Given the description of an element on the screen output the (x, y) to click on. 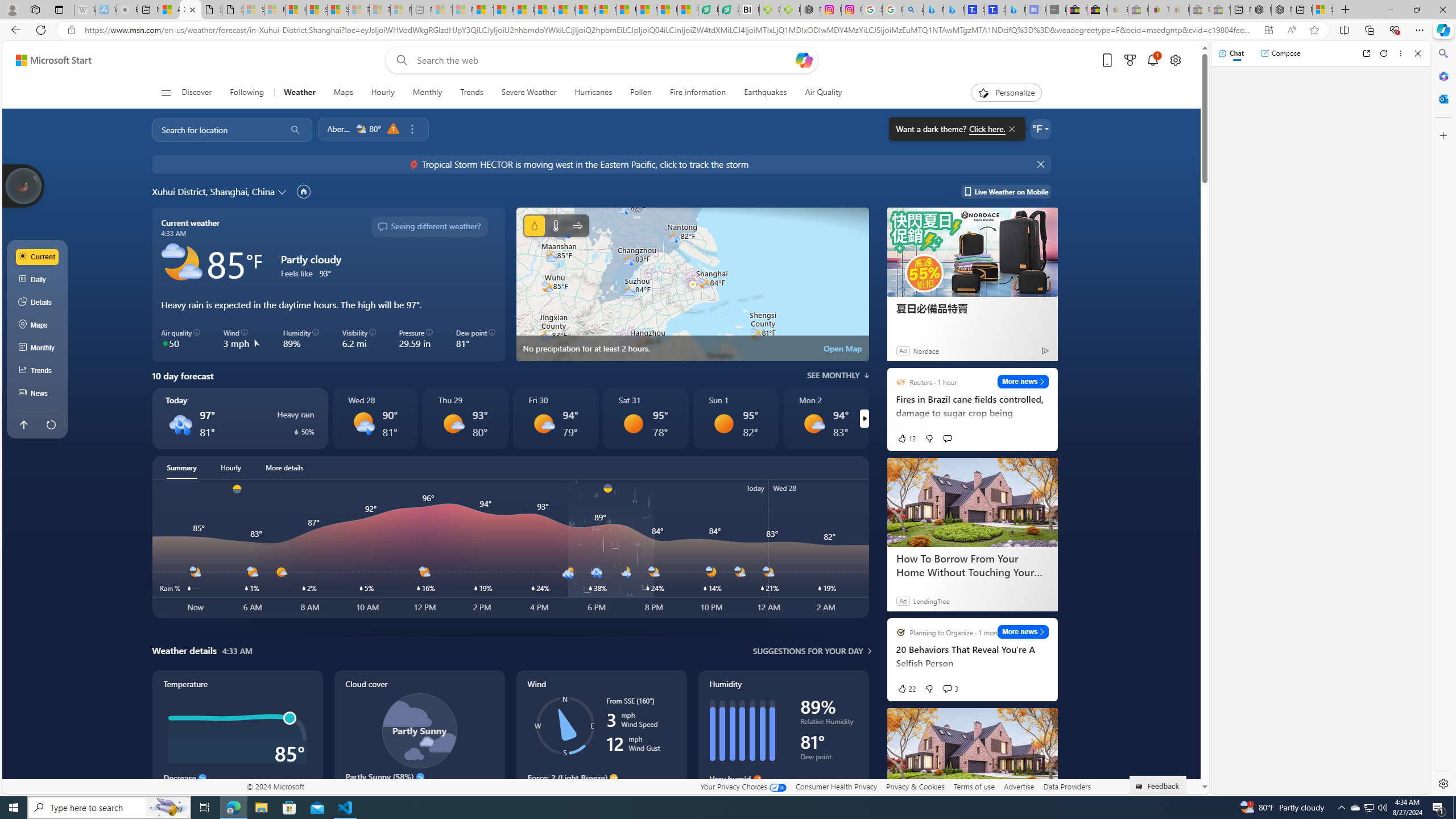
Earthquakes (765, 92)
Aberdeen (338, 129)
Open link in new tab (1366, 53)
Air quality 50 (180, 338)
How To Borrow From Your Home Without Touching Your Mortgage (972, 752)
Precipitation (295, 431)
Search for location (215, 128)
Privacy & Cookies (915, 786)
Details (37, 302)
Temperature (556, 225)
